Given the description of an element on the screen output the (x, y) to click on. 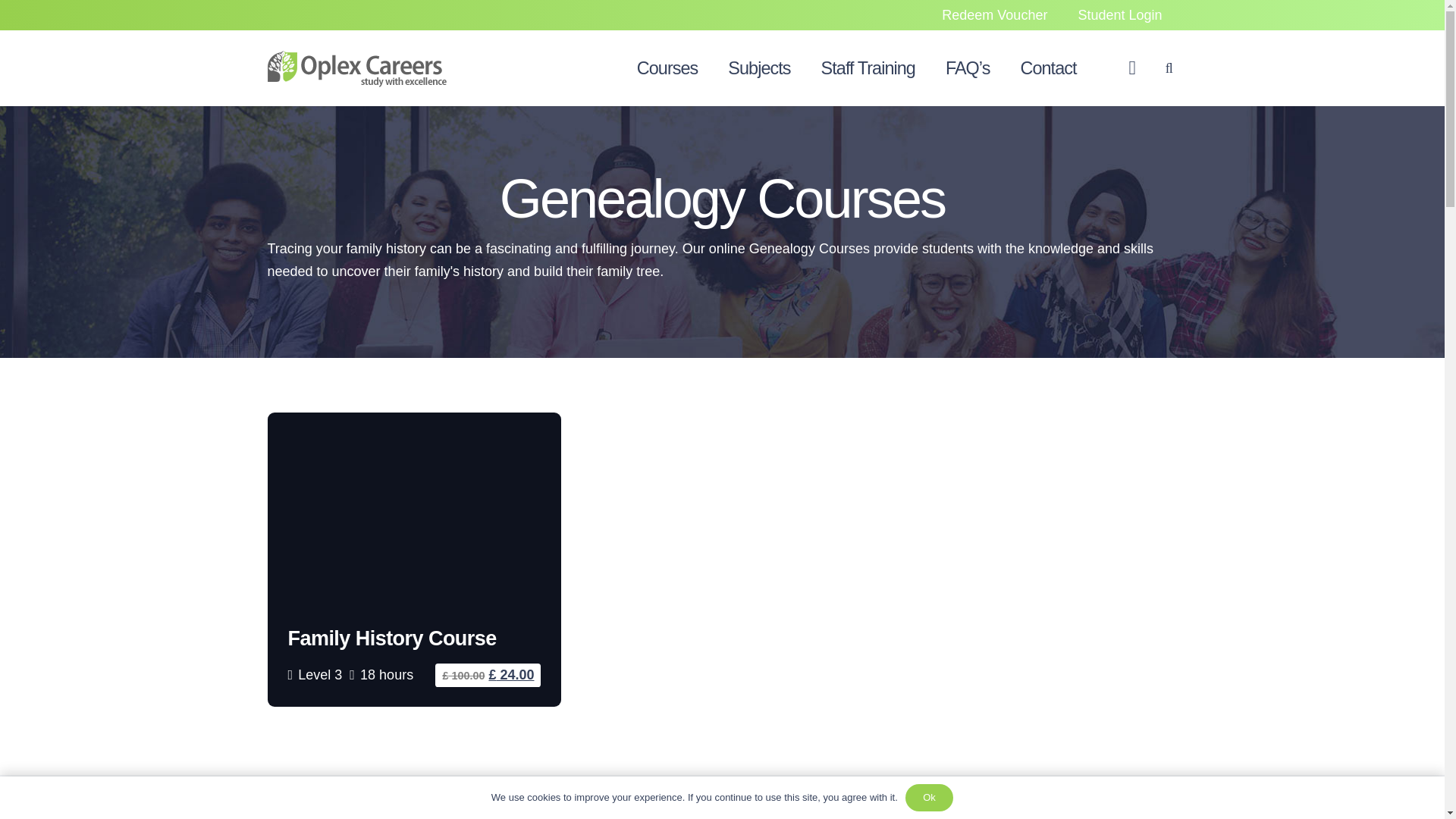
Subjects (759, 68)
Staff Training (868, 68)
Contact (1047, 68)
Redeem Voucher (994, 17)
Student Login (1119, 17)
Courses (667, 68)
